Given the description of an element on the screen output the (x, y) to click on. 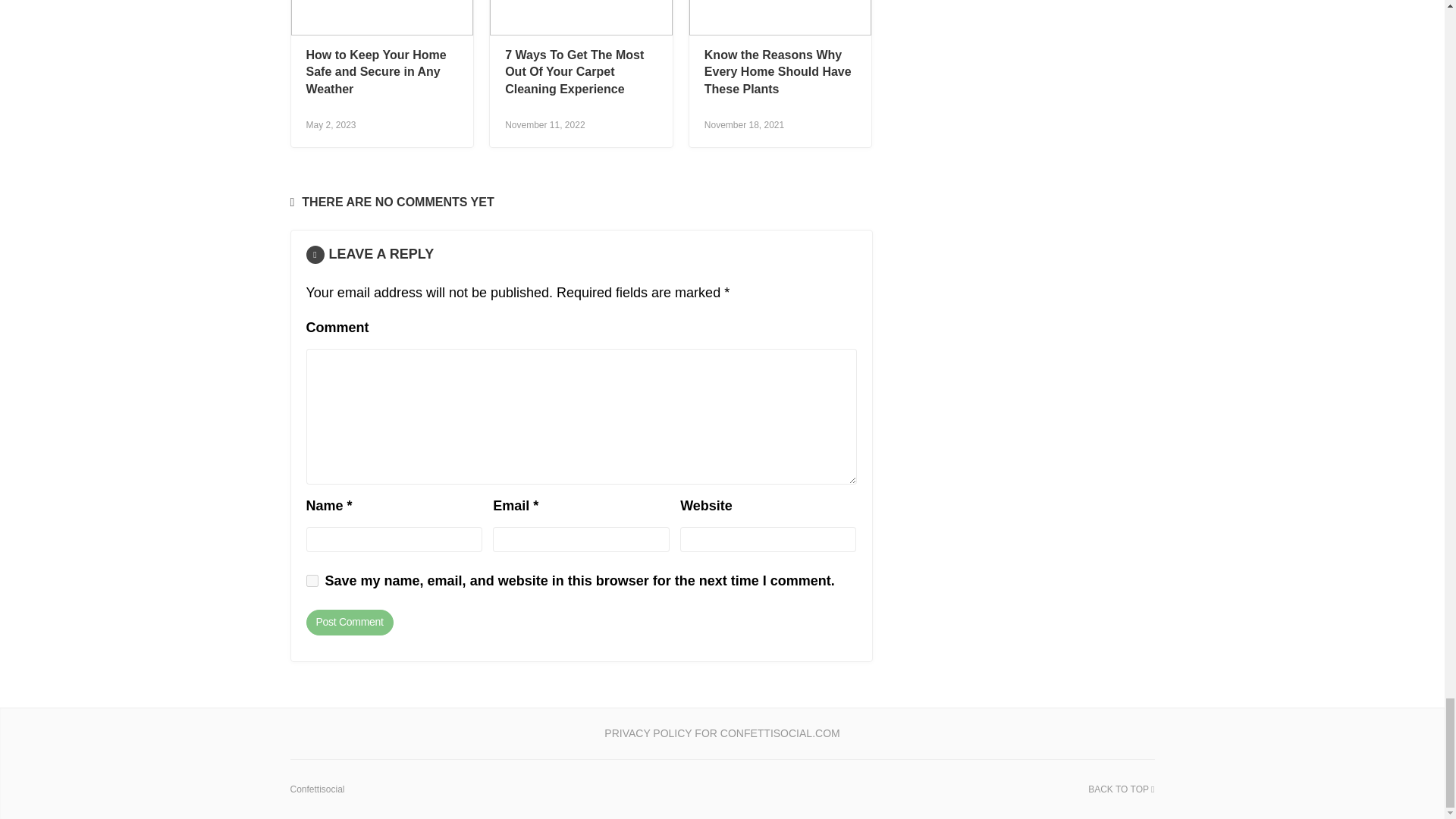
BACK TO TOP  (1120, 789)
How to Keep Your Home Safe and Secure in Any Weather (375, 71)
Know the Reasons Why Every Home Should Have These Plants (777, 71)
Post Comment (349, 622)
yes (311, 580)
May 2, 2023 (330, 124)
Post Comment (349, 622)
